Given the description of an element on the screen output the (x, y) to click on. 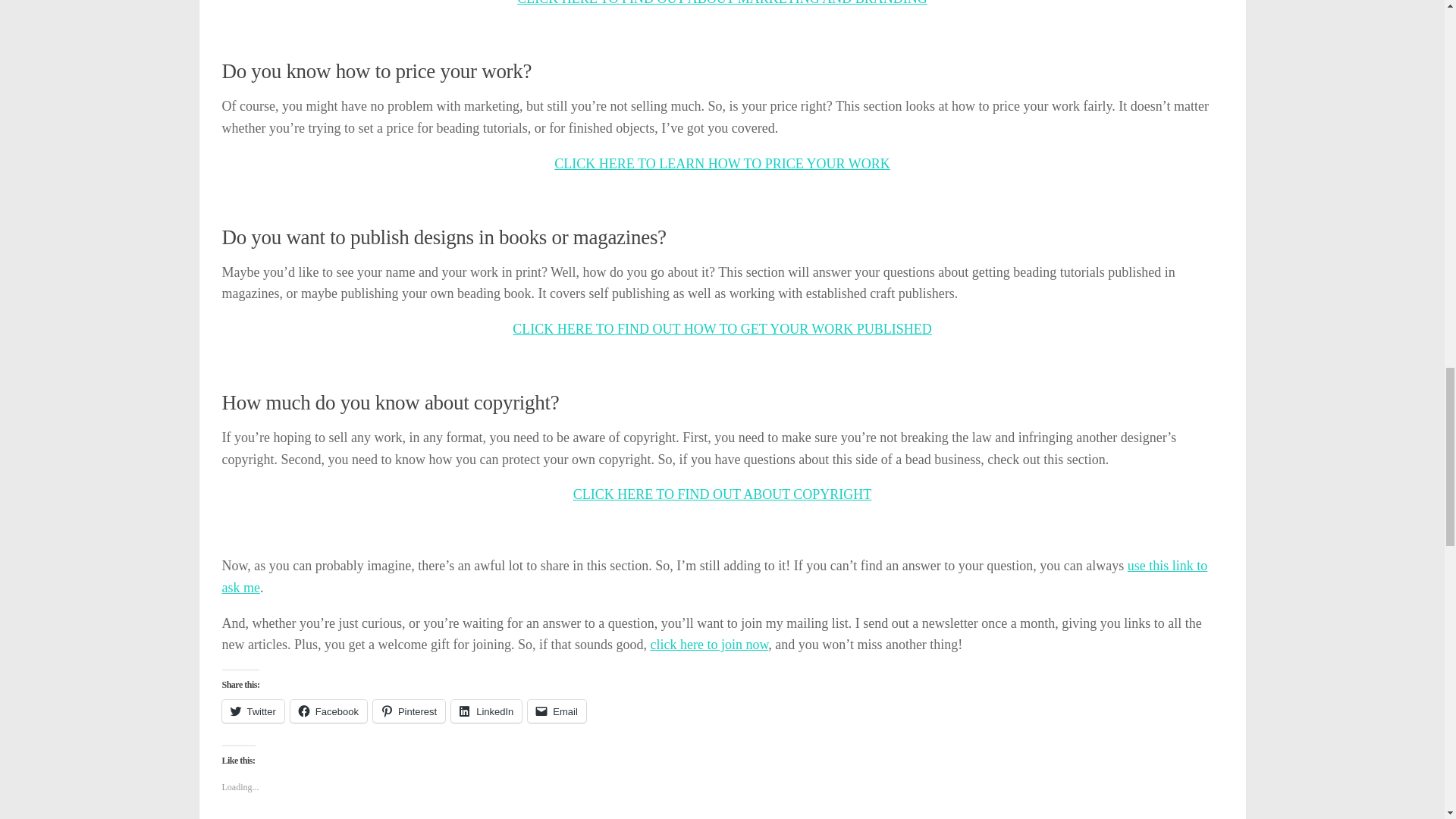
Click to share on Pinterest (408, 711)
Click to share on Twitter (252, 711)
Click to email a link to a friend (556, 711)
Click to share on Facebook (327, 711)
Click to share on LinkedIn (486, 711)
